Given the description of an element on the screen output the (x, y) to click on. 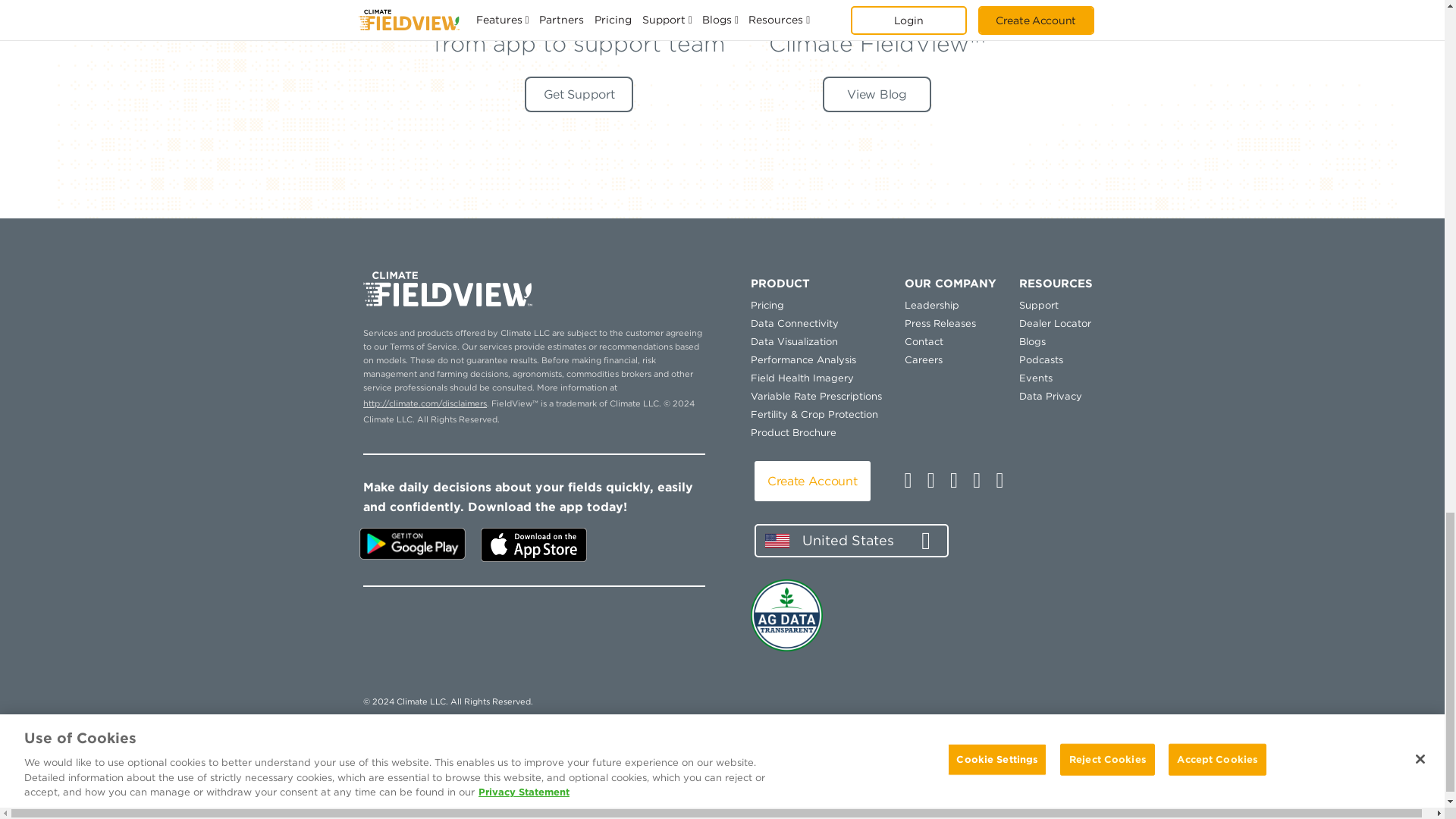
Climate Fieldview Logo (447, 289)
Create Account (813, 480)
View Blog (876, 94)
Get Support (578, 94)
